Given the description of an element on the screen output the (x, y) to click on. 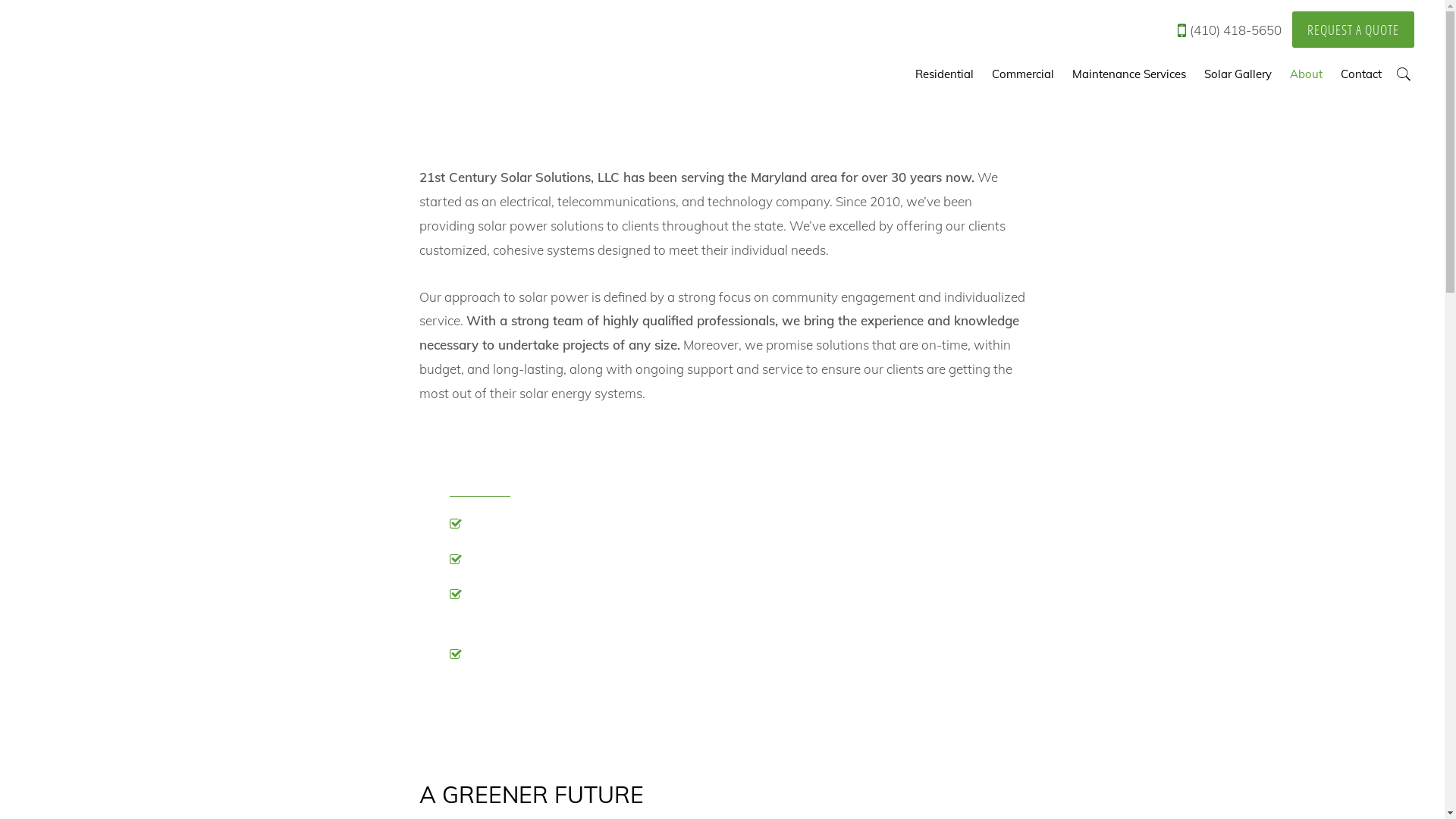
Show Search Element type: text (1403, 73)
Blue Dream Creative Element type: text (829, 783)
Commercial Element type: text (1022, 73)
21st Century Power Solutions Element type: text (674, 783)
Contact Element type: text (1361, 73)
21ST CENTURY SOLAR SOLUTIONS Element type: text (143, 49)
Residential Element type: text (944, 73)
Solar Gallery Element type: text (1237, 73)
Maintenance Services Element type: text (1128, 73)
About Element type: text (1306, 73)
REQUEST A QUOTE Element type: text (1353, 29)
Skip to primary navigation Element type: text (0, 0)
